Given the description of an element on the screen output the (x, y) to click on. 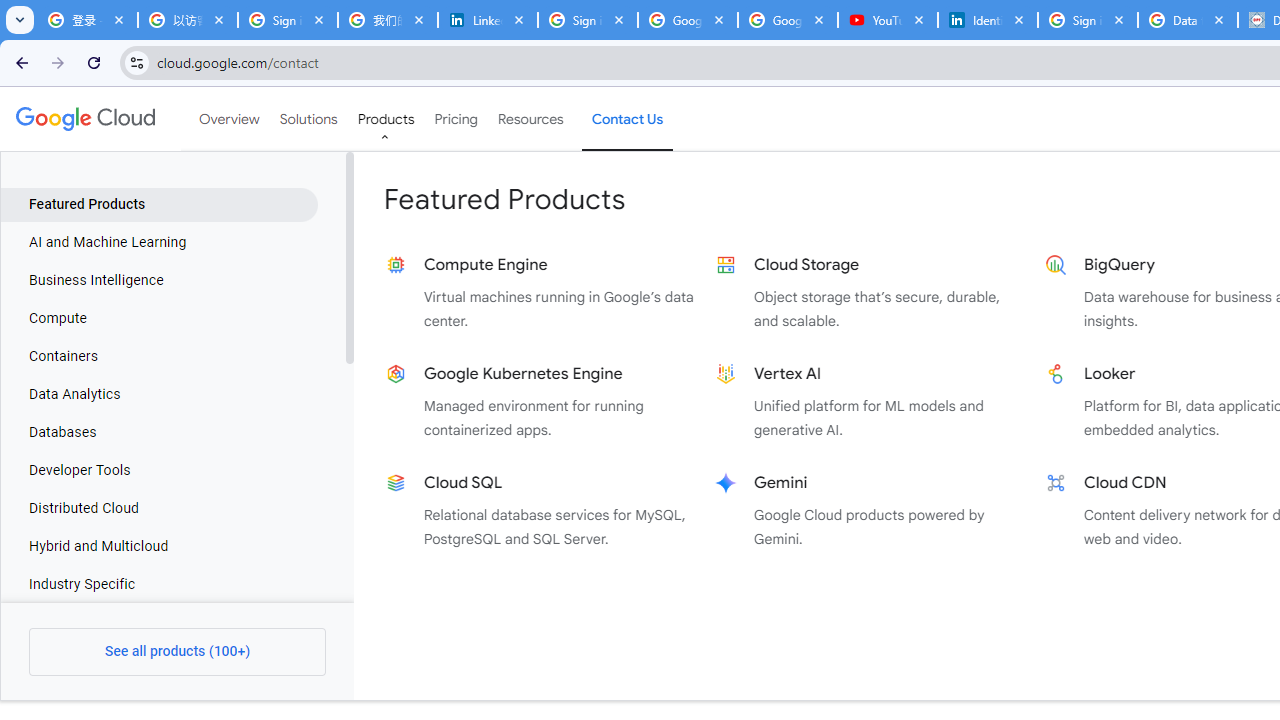
Compute (159, 318)
Find a Google Cloud partner (835, 682)
Developer Tools (159, 471)
Hybrid and Multicloud (159, 546)
Contact Us (627, 119)
Databases (159, 433)
Pricing (455, 119)
